Given the description of an element on the screen output the (x, y) to click on. 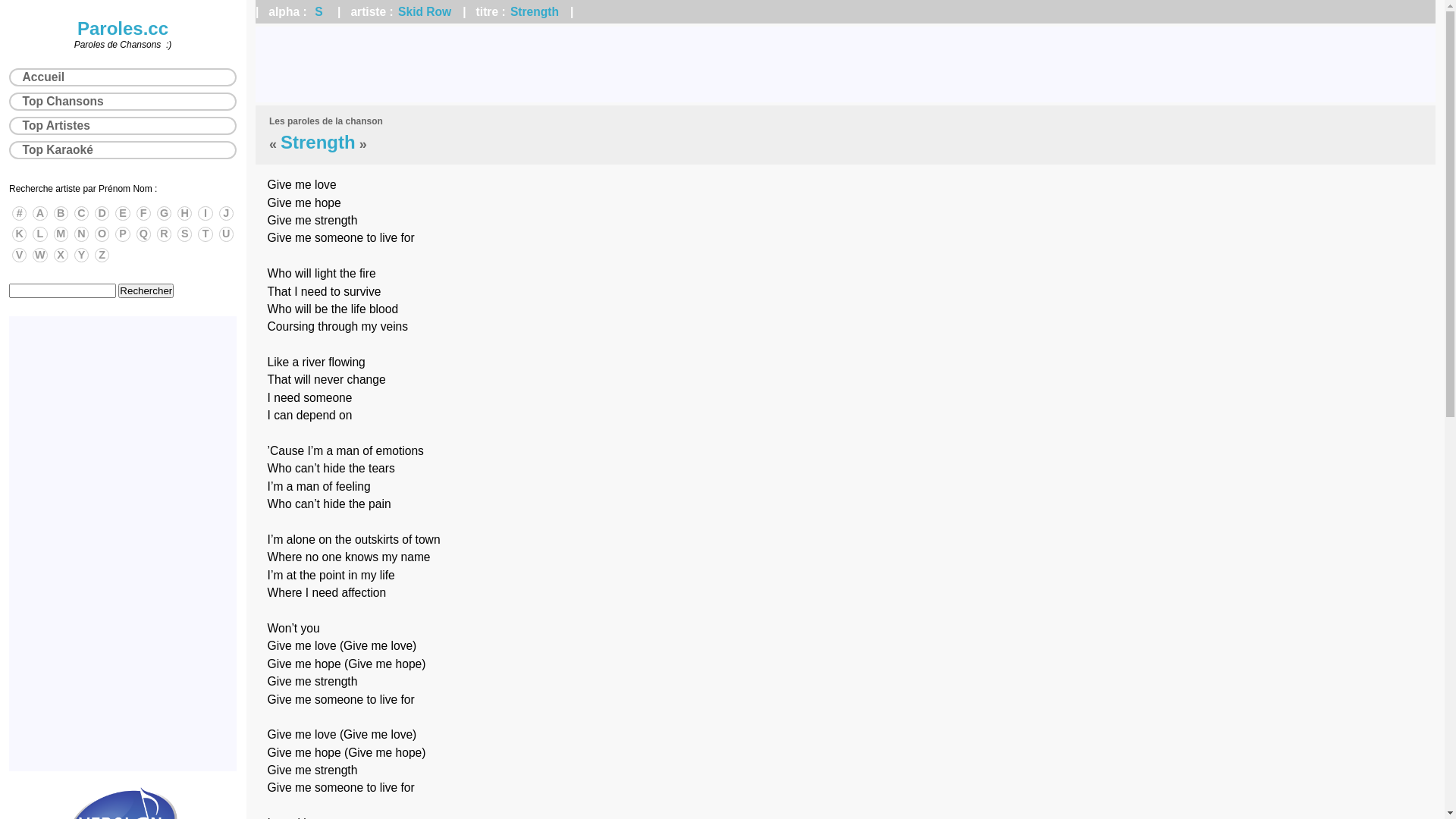
D Element type: text (101, 213)
F Element type: text (143, 213)
J Element type: text (226, 213)
R Element type: text (163, 233)
U Element type: text (226, 233)
N Element type: text (81, 233)
K Element type: text (19, 233)
L Element type: text (39, 233)
 S  Element type: text (318, 11)
A Element type: text (39, 213)
X Element type: text (60, 254)
Skid Row Element type: text (424, 11)
O Element type: text (101, 233)
Z Element type: text (101, 254)
Advertisement Element type: hover (122, 543)
I Element type: text (204, 213)
B Element type: text (60, 213)
T Element type: text (204, 233)
Y Element type: text (81, 254)
Accueil Element type: text (122, 77)
Top Chansons Element type: text (122, 101)
Paroles.cc Element type: text (122, 28)
Strength Element type: text (534, 11)
Q Element type: text (143, 233)
E Element type: text (122, 213)
M Element type: text (60, 233)
V Element type: text (19, 254)
Rechercher Element type: text (145, 290)
S Element type: text (184, 233)
W Element type: text (39, 254)
C Element type: text (81, 213)
H Element type: text (184, 213)
Top Artistes Element type: text (122, 125)
Advertisement Element type: hover (845, 64)
G Element type: text (163, 213)
P Element type: text (122, 233)
# Element type: text (19, 213)
